Given the description of an element on the screen output the (x, y) to click on. 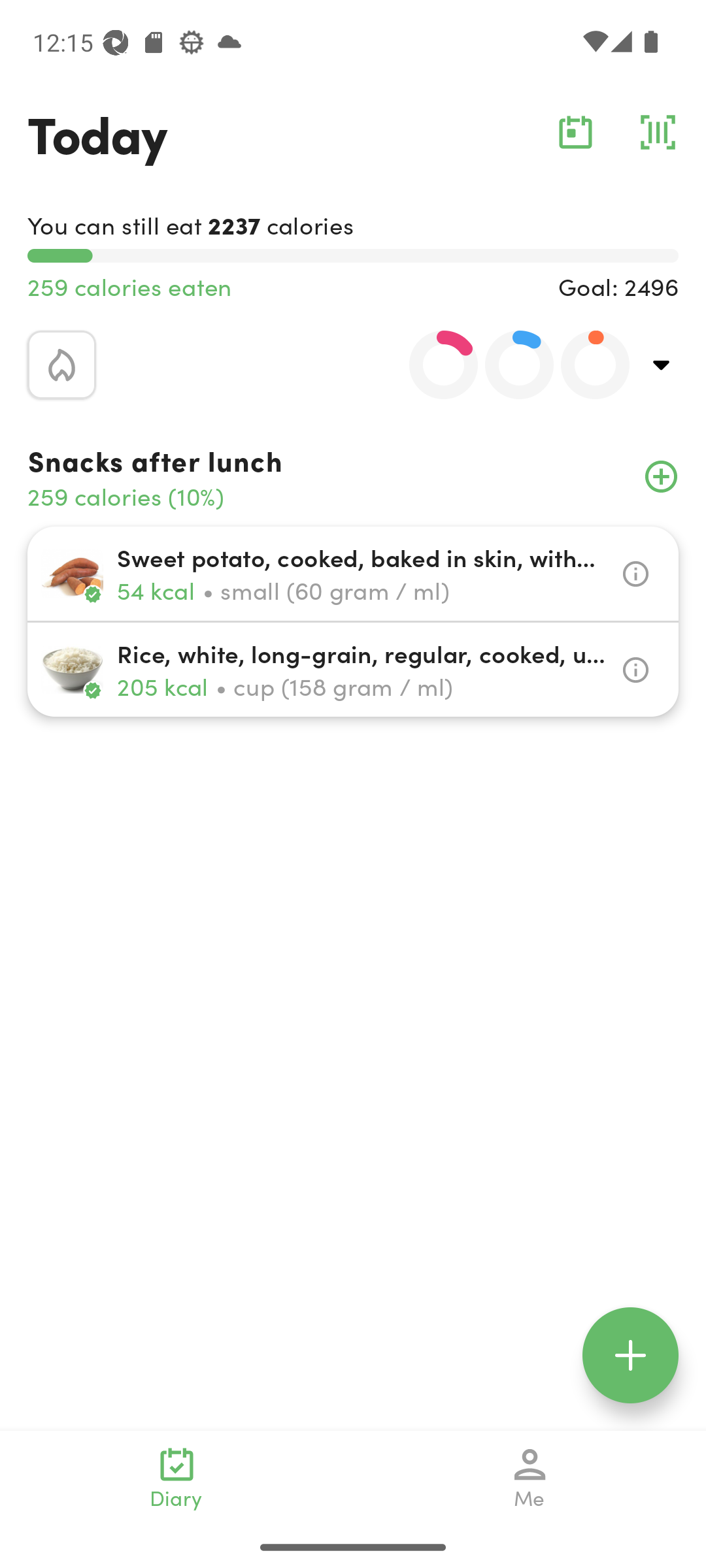
calendar_action (575, 132)
barcode_action (658, 132)
calorie_icon (62, 365)
0.15 0.09 0.01 (508, 365)
top_right_action (661, 365)
info_icon (636, 573)
info_icon (636, 669)
floating_action_icon (630, 1355)
Me navigation_icon (529, 1478)
